Given the description of an element on the screen output the (x, y) to click on. 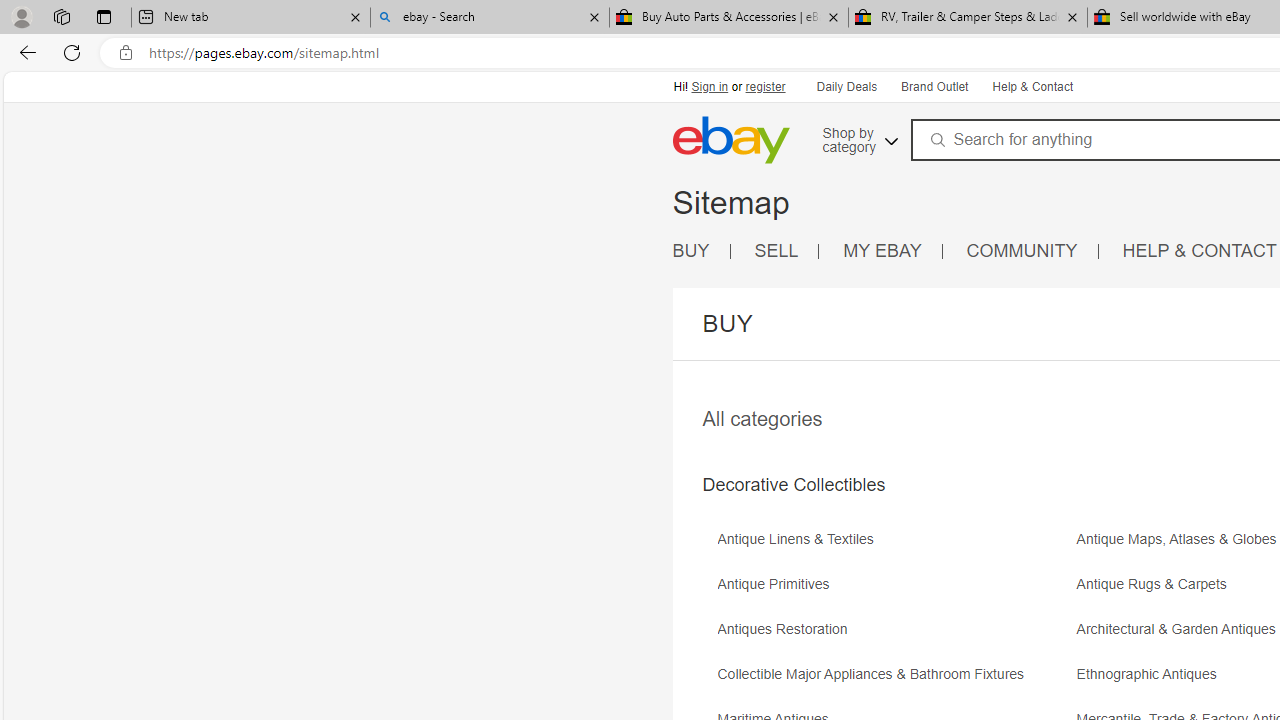
MY EBAY (893, 251)
Decorative Collectibles (793, 485)
Antique Linens & Textiles (800, 539)
COMMUNITY (1021, 250)
BUY (701, 251)
Back (24, 52)
register (764, 86)
SELL (786, 251)
Antique Linens & Textiles (894, 546)
Buy Auto Parts & Accessories | eBay (729, 17)
Shop by category (857, 137)
Antique Primitives (894, 591)
SELL (775, 250)
Antiques Restoration (894, 636)
Help & Contact (1031, 86)
